Given the description of an element on the screen output the (x, y) to click on. 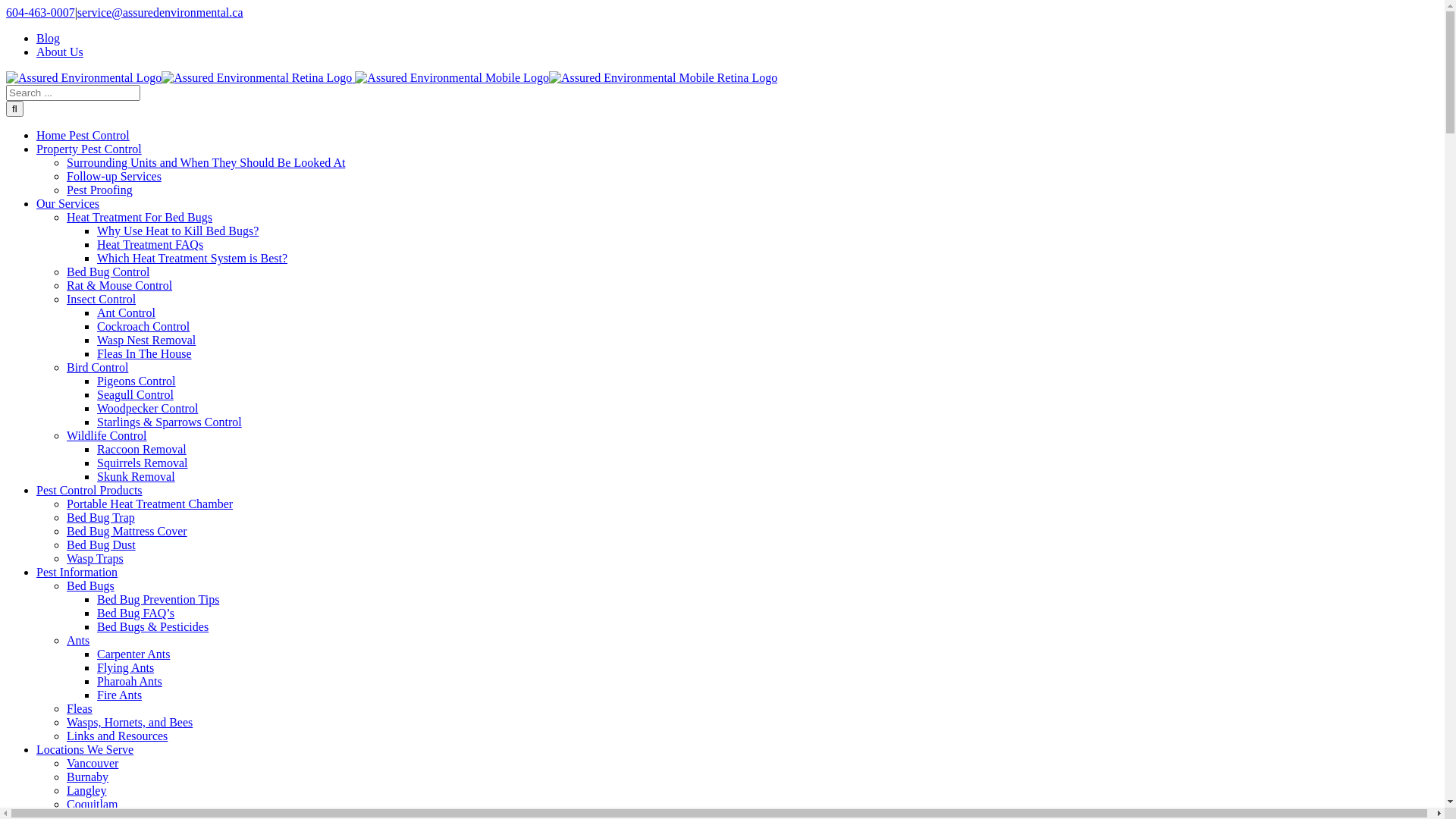
Home Pest Control Element type: text (82, 134)
Bed Bug Control Element type: text (107, 271)
Cockroach Control Element type: text (143, 326)
Squirrels Removal Element type: text (142, 462)
Locations We Serve Element type: text (84, 749)
Heat Treatment FAQs Element type: text (150, 244)
Woodpecker Control Element type: text (147, 407)
Surrounding Units and When They Should Be Looked At Element type: text (205, 162)
Why Use Heat to Kill Bed Bugs? Element type: text (177, 230)
Bed Bugs Element type: text (90, 585)
Seagull Control Element type: text (135, 394)
Burnaby Element type: text (87, 776)
Fleas In The House Element type: text (144, 353)
About Us Element type: text (59, 51)
Fire Ants Element type: text (119, 694)
Pest Information Element type: text (76, 571)
Starlings & Sparrows Control Element type: text (169, 421)
Bed Bug Dust Element type: text (100, 544)
Heat Treatment For Bed Bugs Element type: text (139, 216)
Bed Bug Trap Element type: text (100, 517)
Portable Heat Treatment Chamber Element type: text (149, 503)
Which Heat Treatment System is Best? Element type: text (192, 257)
Flying Ants Element type: text (125, 667)
Blog Element type: text (47, 37)
service@assuredenvironmental.ca Element type: text (160, 12)
Skunk Removal Element type: text (136, 476)
Wasps, Hornets, and Bees Element type: text (129, 721)
Langley Element type: text (86, 790)
Bed Bug Mattress Cover Element type: text (126, 530)
Carpenter Ants Element type: text (133, 653)
Wasp Traps Element type: text (94, 558)
Coquitlam Element type: text (92, 803)
Pigeons Control Element type: text (136, 380)
Our Services Element type: text (67, 203)
Ant Control Element type: text (126, 312)
Insect Control Element type: text (100, 298)
Pest Control Products Element type: text (89, 489)
Ants Element type: text (77, 639)
Links and Resources Element type: text (116, 735)
Vancouver Element type: text (92, 762)
Bed Bugs & Pesticides Element type: text (152, 626)
Property Pest Control Element type: text (88, 148)
Wildlife Control Element type: text (106, 435)
Follow-up Services Element type: text (113, 175)
Bird Control Element type: text (97, 366)
Bed Bug Prevention Tips Element type: text (158, 599)
Wasp Nest Removal Element type: text (146, 339)
Raccoon Removal Element type: text (141, 448)
Pharoah Ants Element type: text (129, 680)
Fleas Element type: text (79, 708)
Rat & Mouse Control Element type: text (119, 285)
604-463-0007 Element type: text (40, 12)
Pest Proofing Element type: text (99, 189)
